Given the description of an element on the screen output the (x, y) to click on. 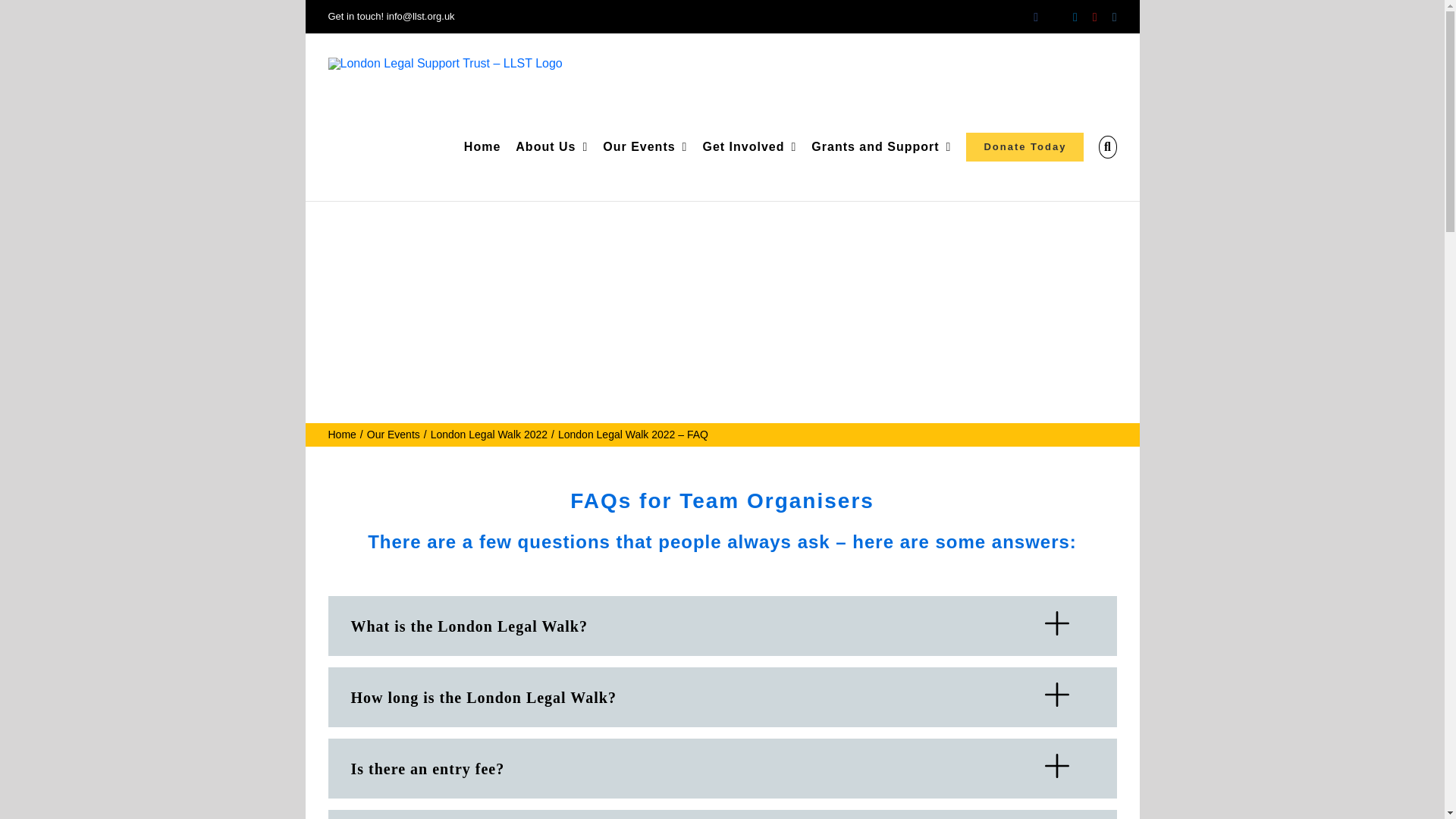
Donate Today (1024, 146)
Grants and Support (880, 146)
